Given the description of an element on the screen output the (x, y) to click on. 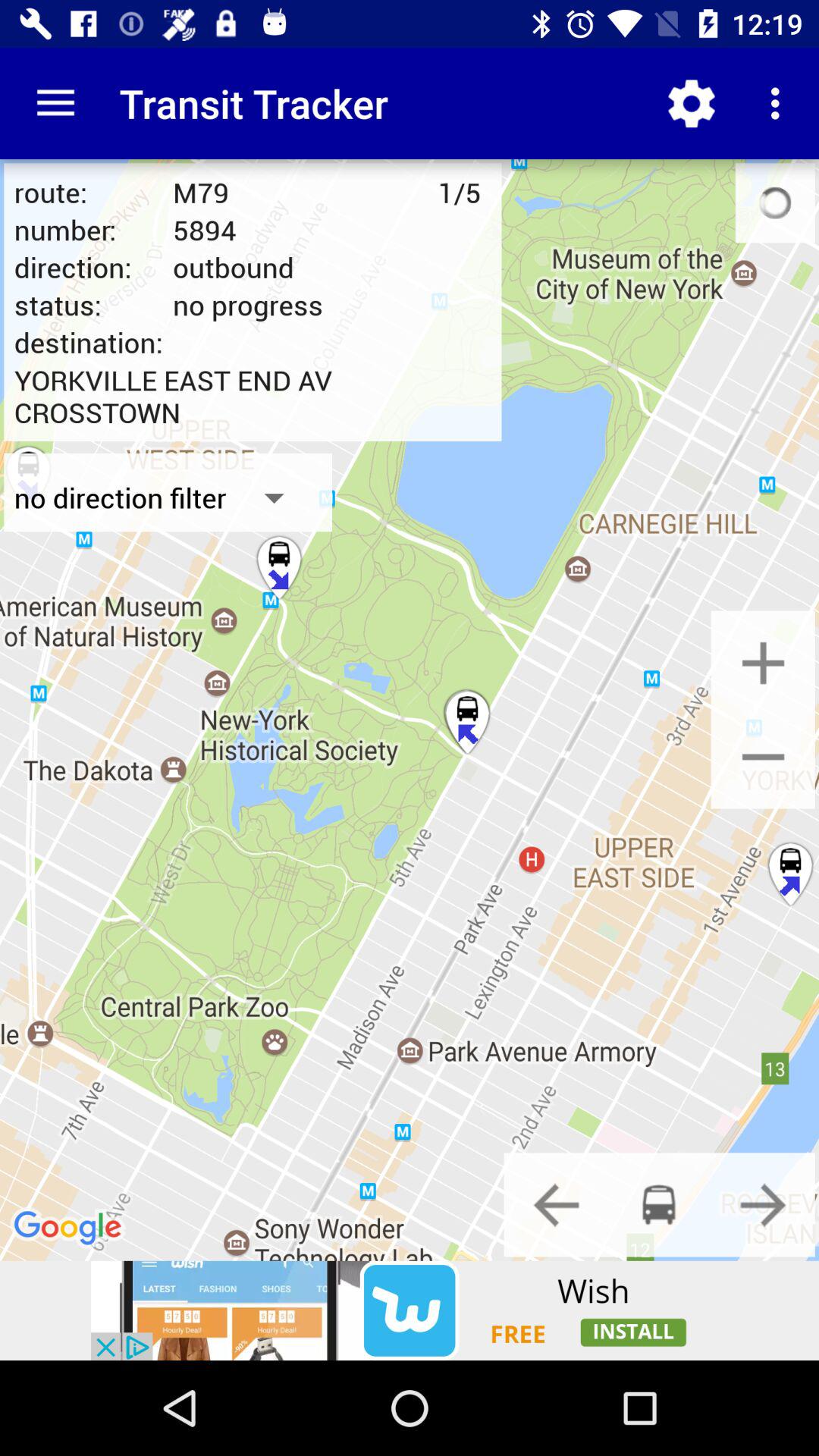
go to previous (555, 1204)
